Given the description of an element on the screen output the (x, y) to click on. 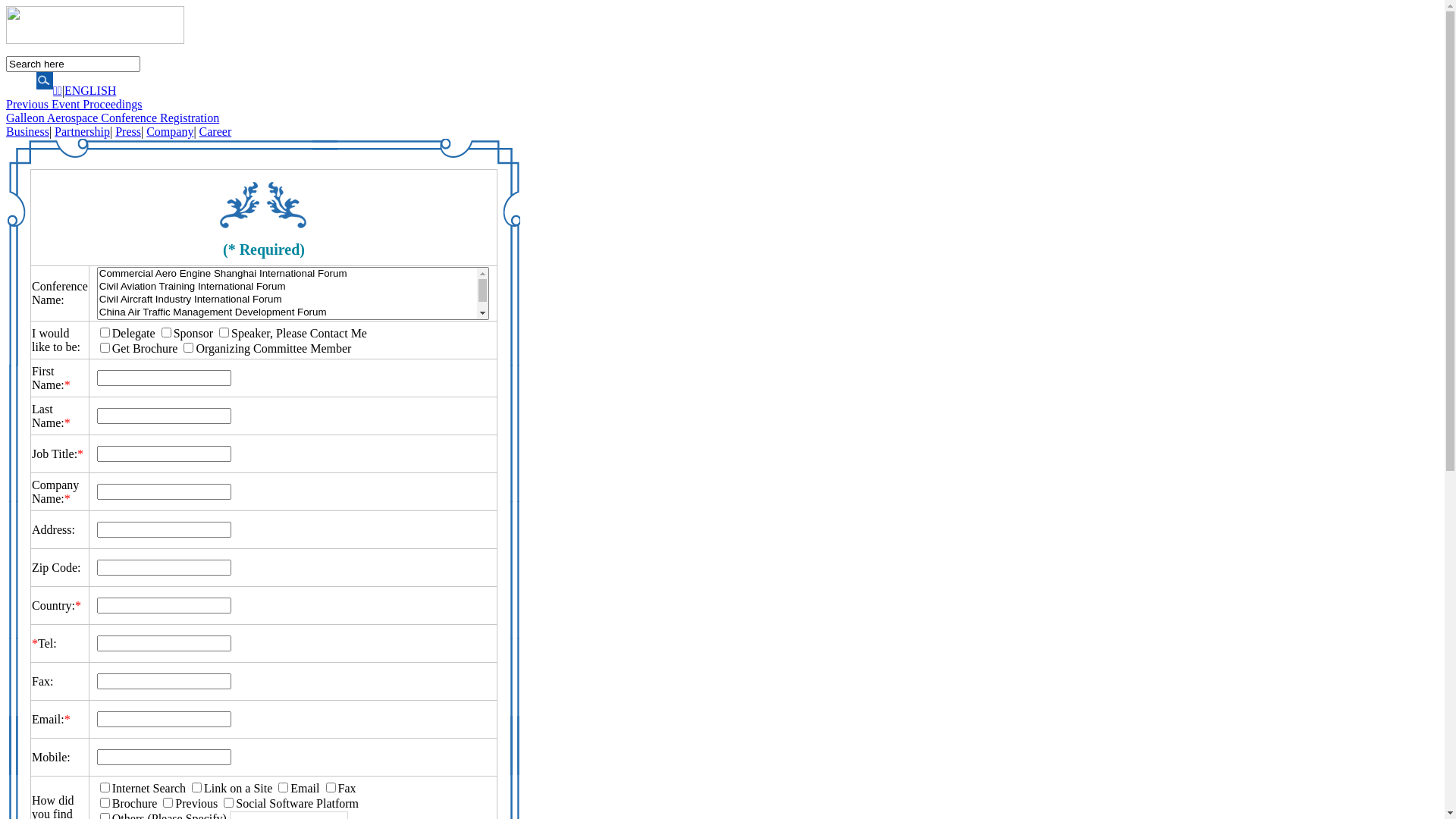
Company Element type: text (169, 131)
Partnership Element type: text (81, 131)
Career Element type: text (215, 131)
Previous Event Proceedings Element type: text (74, 103)
Press Element type: text (128, 131)
Business Element type: text (27, 131)
Galleon Aerospace Conference Registration Element type: text (112, 117)
ENGLISH Element type: text (90, 90)
